Given the description of an element on the screen output the (x, y) to click on. 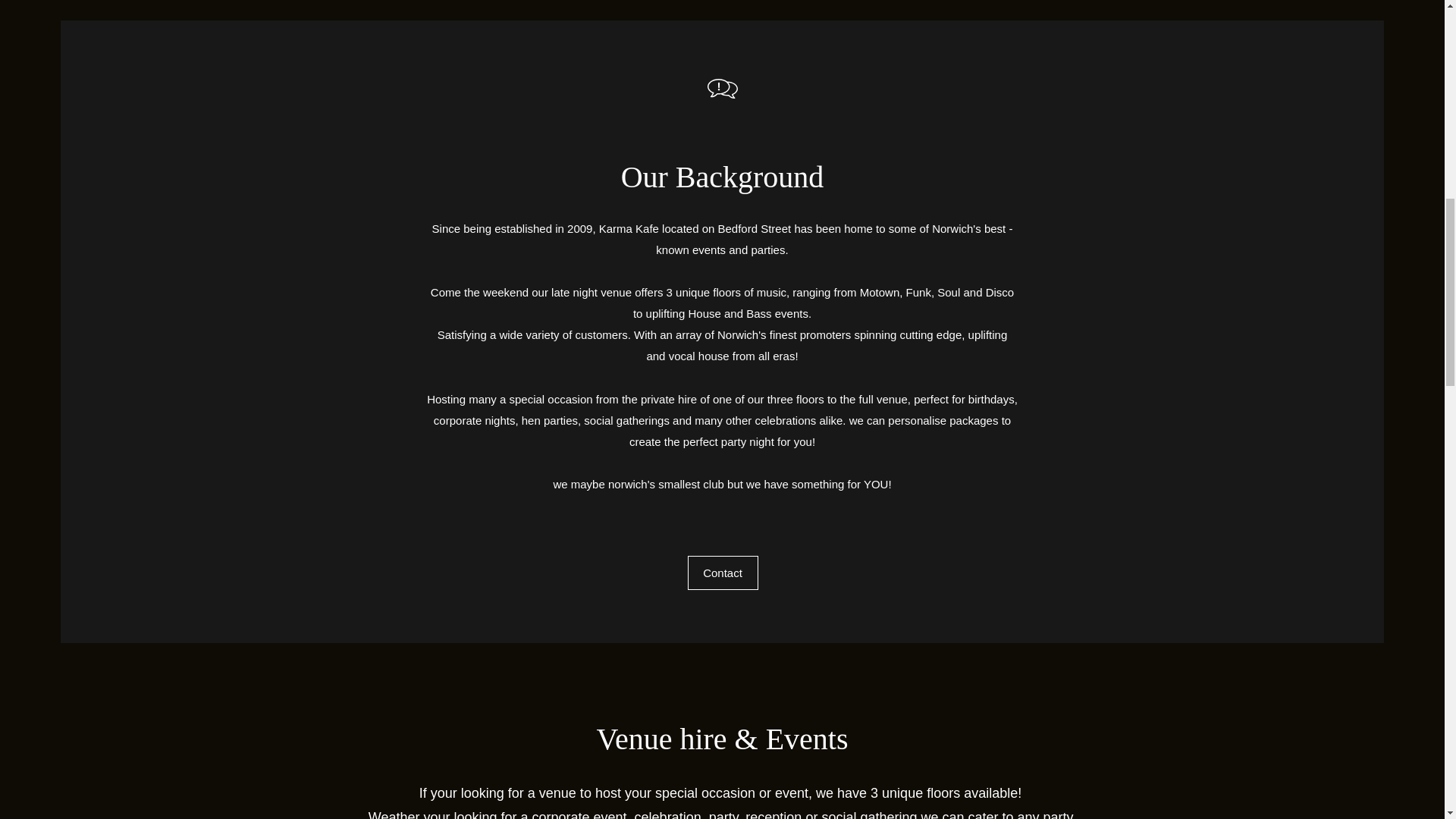
Contact (722, 572)
